Given the description of an element on the screen output the (x, y) to click on. 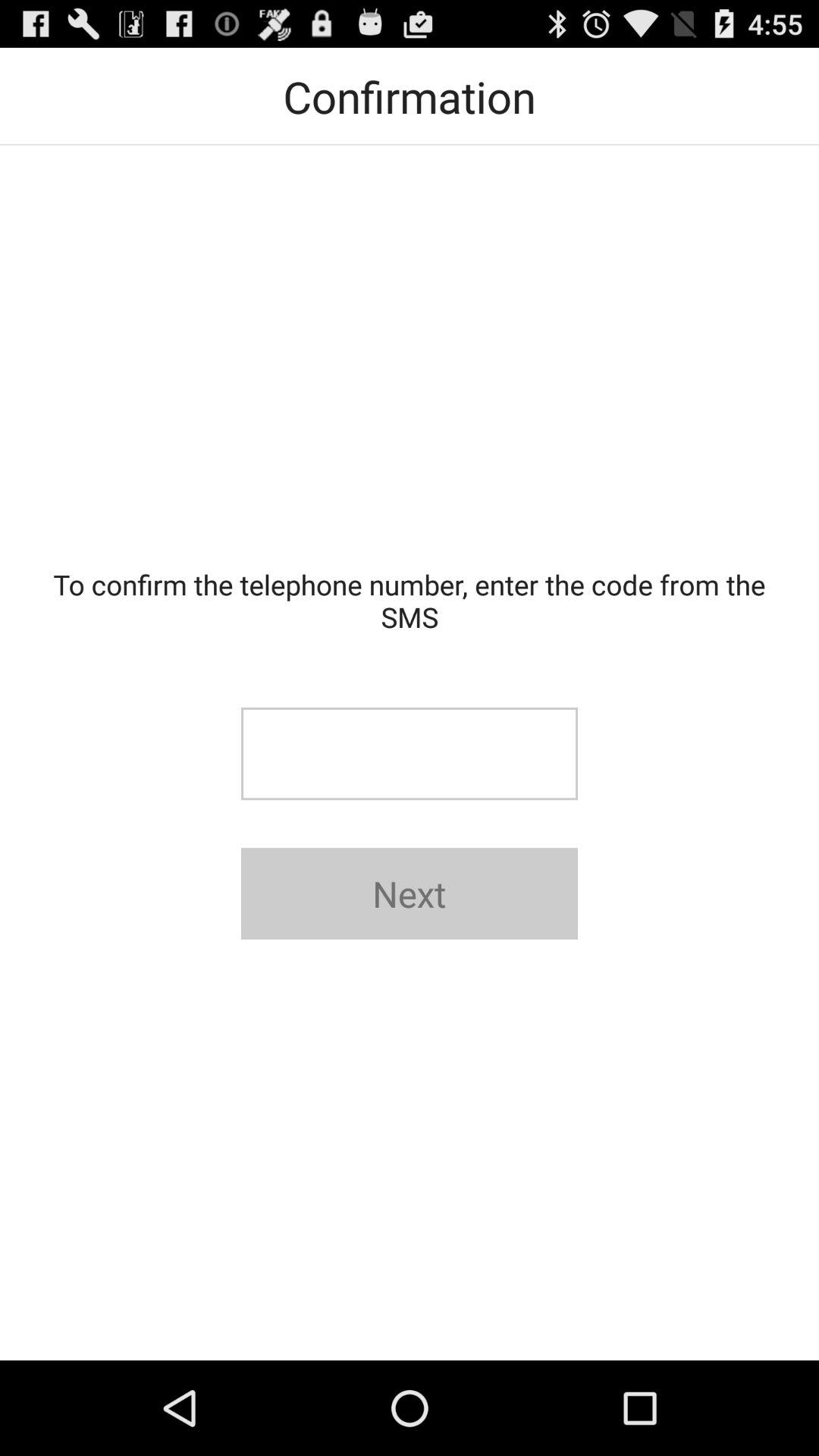
swipe to the next item (409, 893)
